Given the description of an element on the screen output the (x, y) to click on. 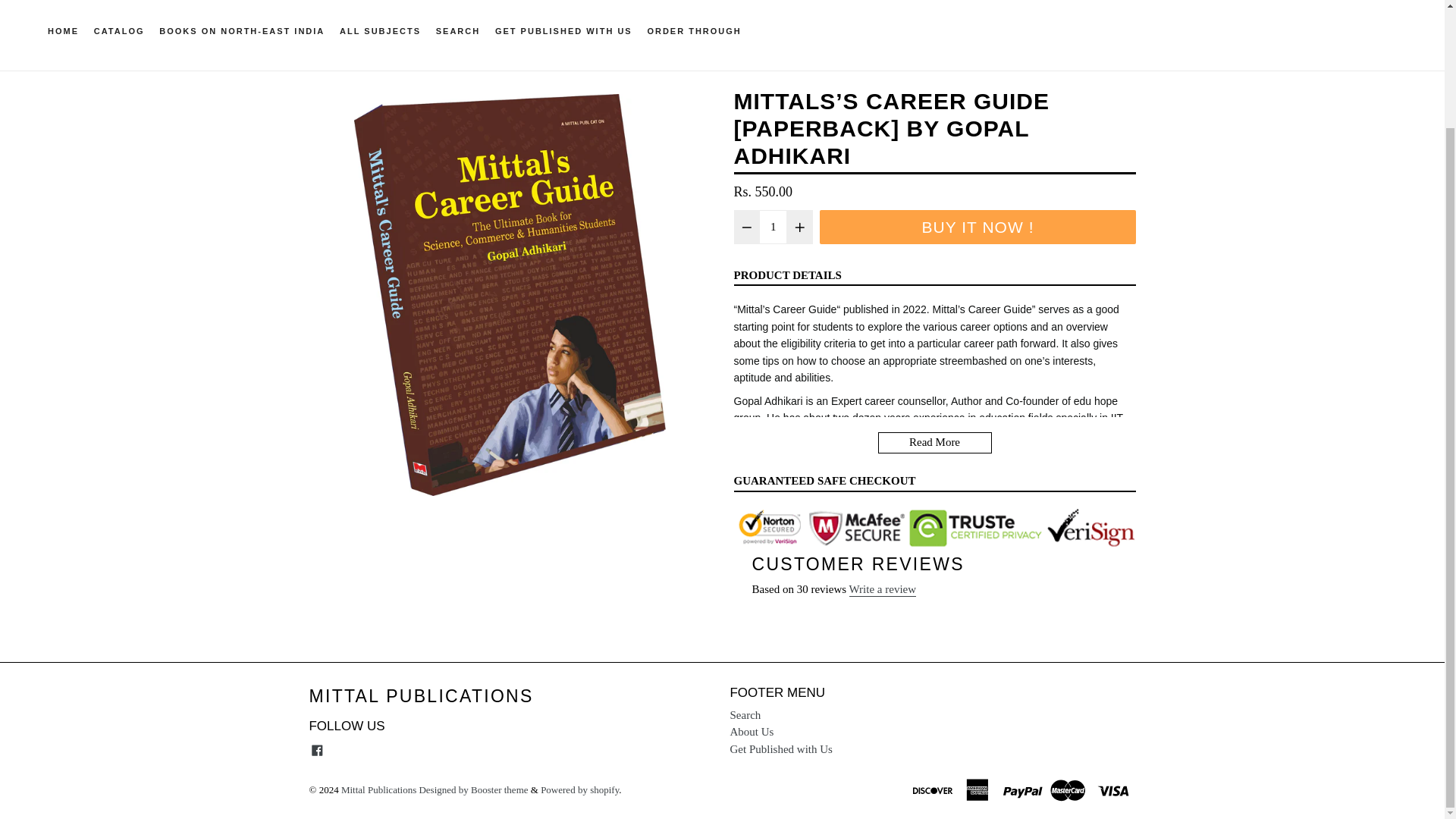
discover (933, 788)
Search (744, 715)
visa (1114, 788)
ORDER THROUGH (693, 35)
MITTAL PUBLICATIONS (421, 696)
GET PUBLISHED WITH US (564, 35)
Facebook (316, 749)
Write a review (882, 590)
Mittal Publications on Facebook (316, 749)
BUY IT NOW ! (976, 226)
paypal (1024, 788)
Read More (934, 442)
CATALOG (119, 35)
PRODUCT DETAILS (787, 275)
american express (979, 788)
